Given the description of an element on the screen output the (x, y) to click on. 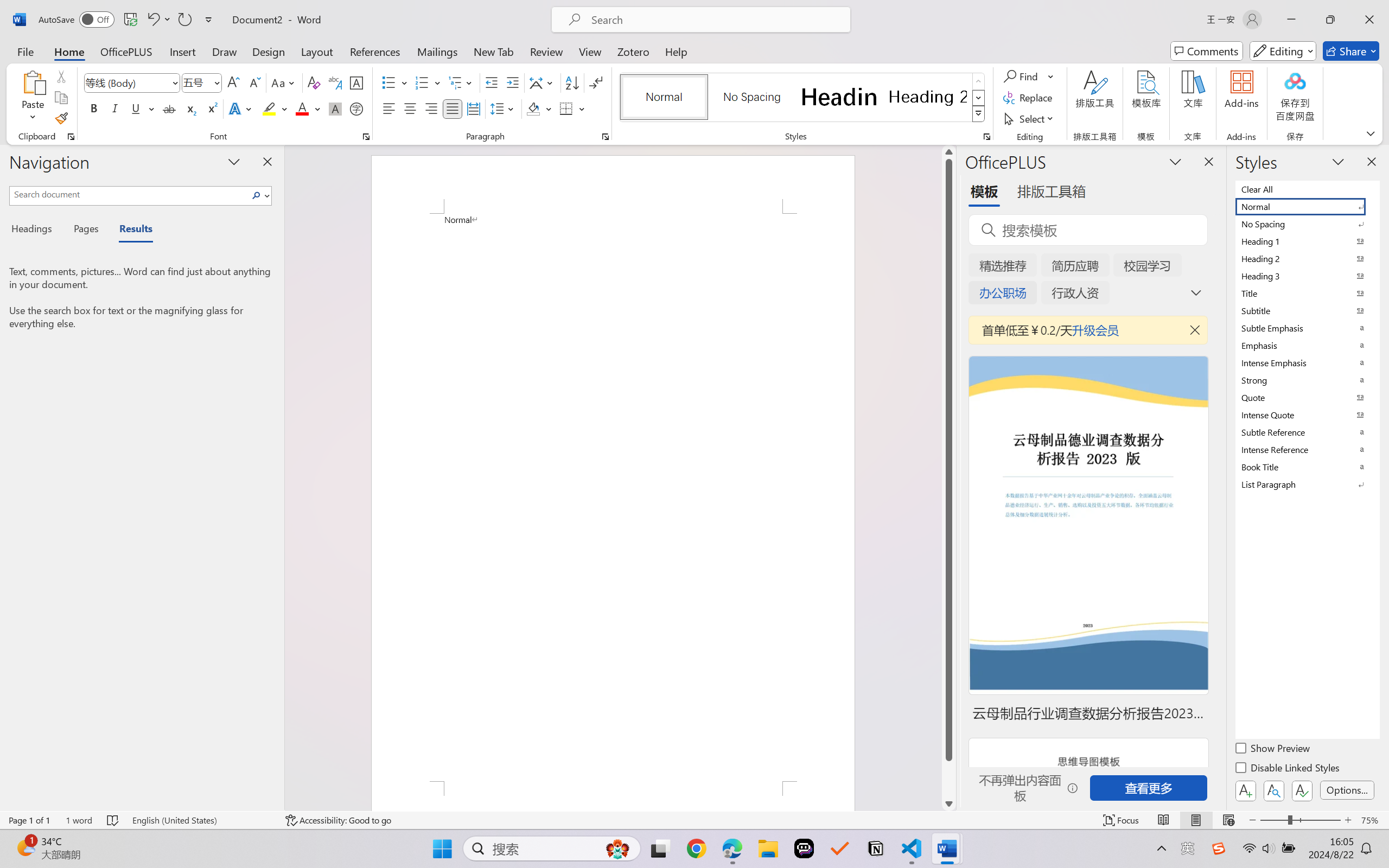
Paste (33, 97)
Intense Reference (1306, 449)
Word Count 1 word (78, 819)
Font... (365, 136)
Line down (948, 803)
Heading 2 (927, 96)
Web Layout (1228, 819)
Asian Layout (542, 82)
Intense Quote (1306, 414)
Subtle Emphasis (1306, 327)
Distributed (473, 108)
Subtle Reference (1306, 431)
Text Effects and Typography (241, 108)
